Given the description of an element on the screen output the (x, y) to click on. 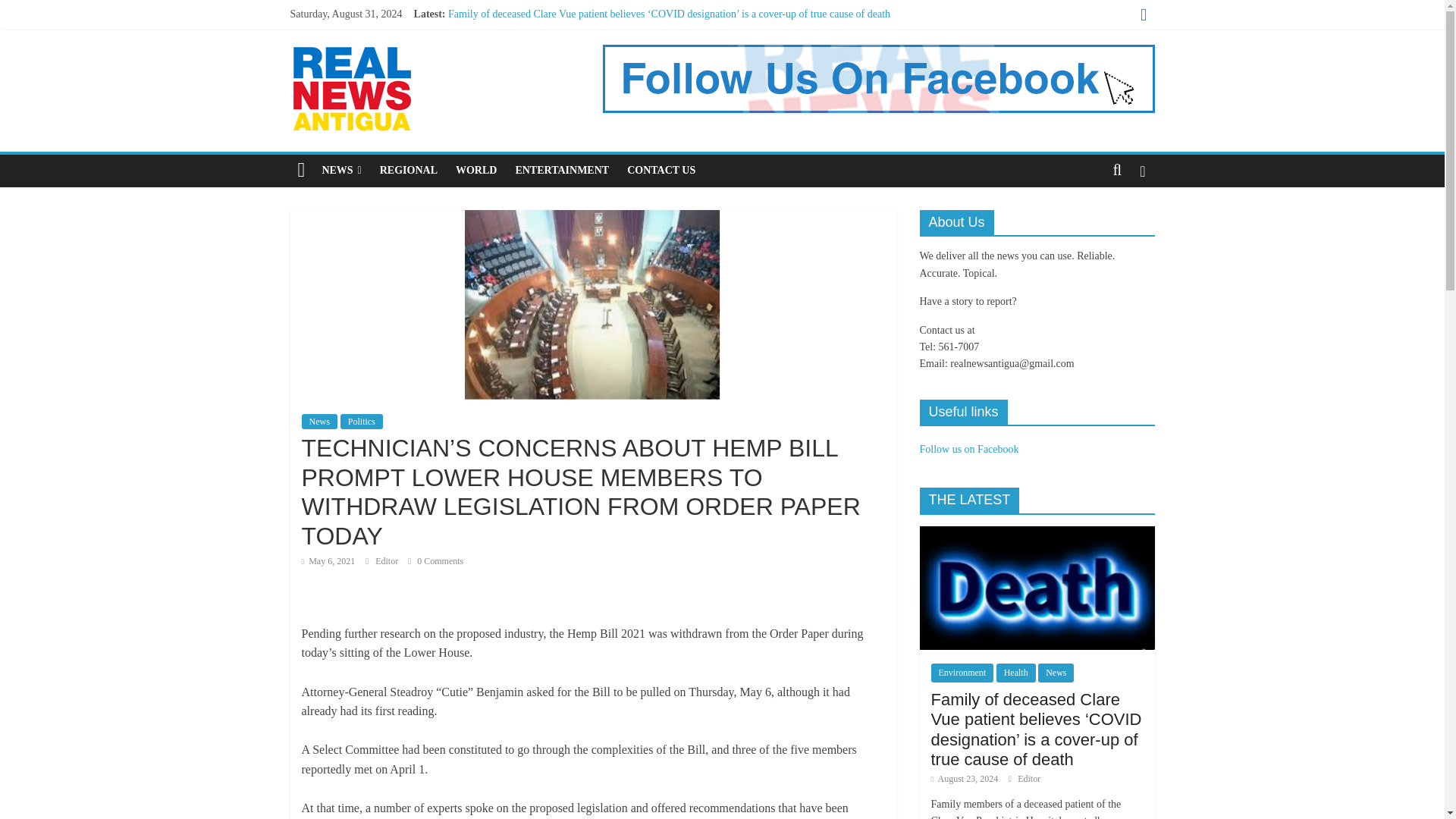
WORLD (475, 170)
NEWS (341, 170)
ENTERTAINMENT (561, 170)
Editor (387, 561)
News (319, 421)
